Given the description of an element on the screen output the (x, y) to click on. 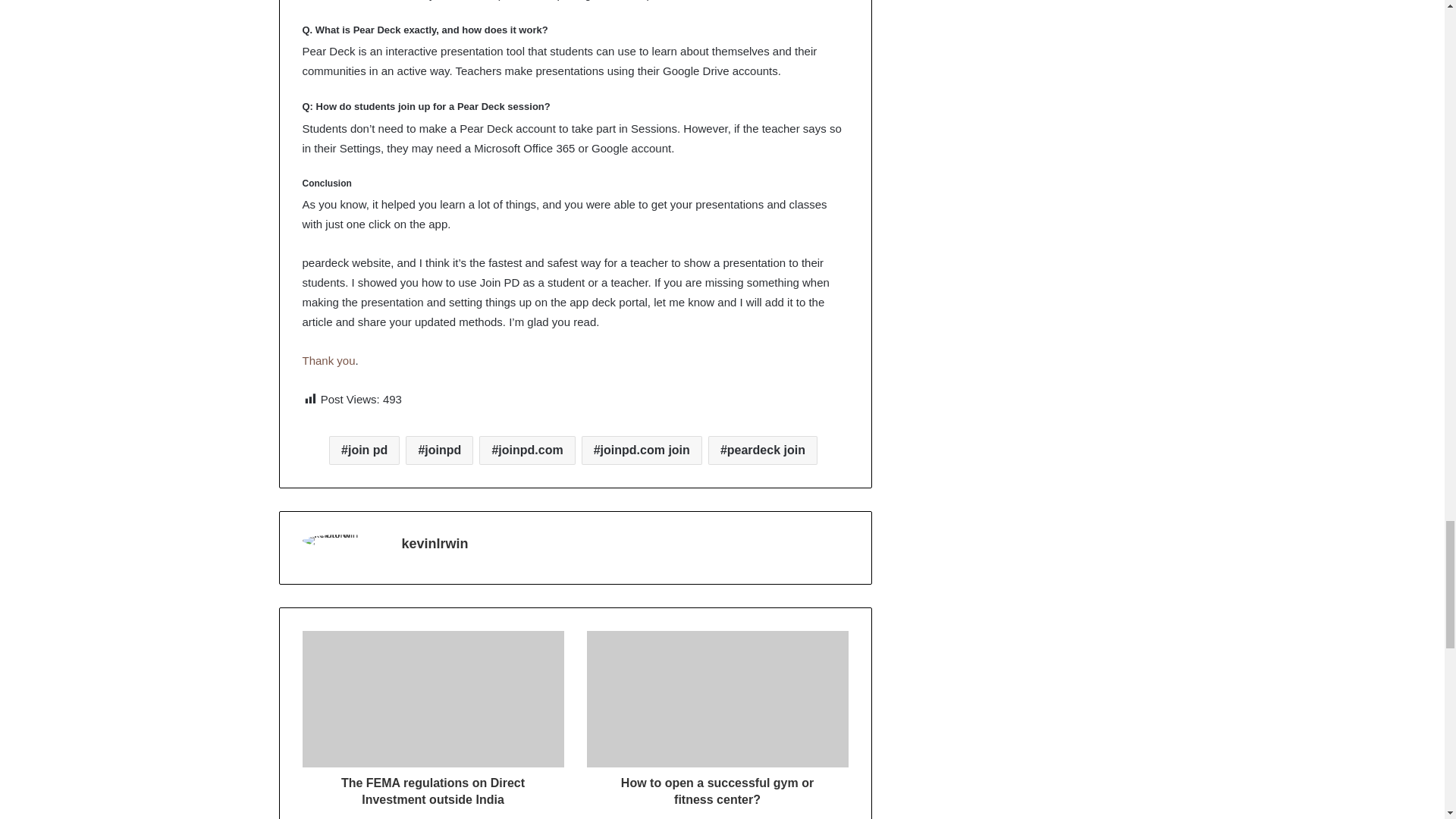
kevinIrwin (434, 543)
joinpd.com join (640, 450)
join pd (363, 450)
peardeck join (761, 450)
joinpd (439, 450)
Thank you (328, 359)
joinpd.com (527, 450)
The FEMA regulations on Direct Investment outside India (432, 787)
